Given the description of an element on the screen output the (x, y) to click on. 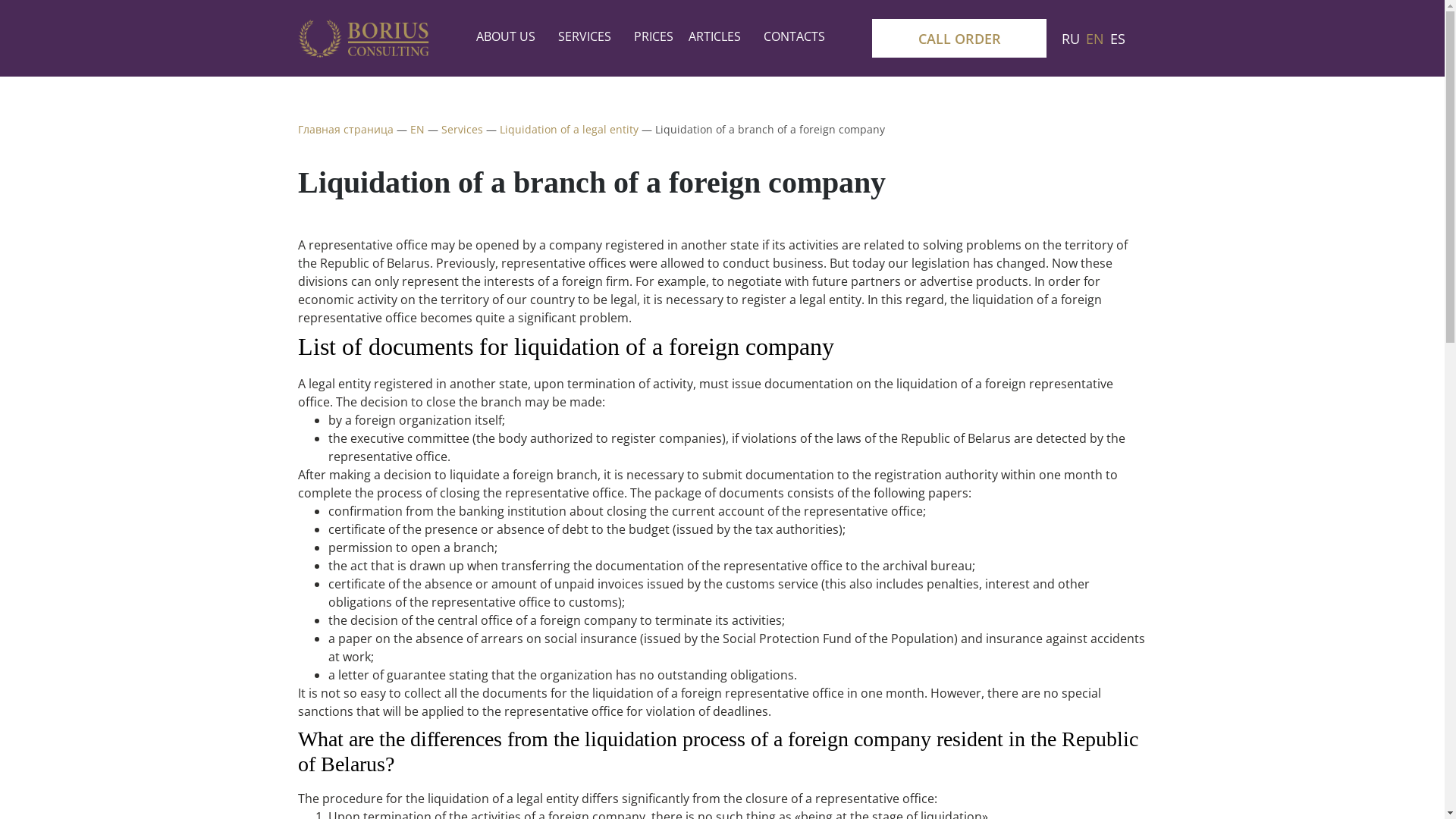
Services Element type: text (462, 129)
PRICES Element type: text (653, 35)
ABOUT US Element type: text (509, 35)
RU Element type: text (1070, 37)
CALL ORDER Element type: text (959, 37)
Liquidation of a legal entity Element type: text (567, 129)
ARTICLES Element type: text (718, 35)
SERVICES Element type: text (588, 35)
EN Element type: text (416, 129)
CONTACTS Element type: text (794, 35)
EN Element type: text (1094, 37)
ES Element type: text (1117, 37)
